Given the description of an element on the screen output the (x, y) to click on. 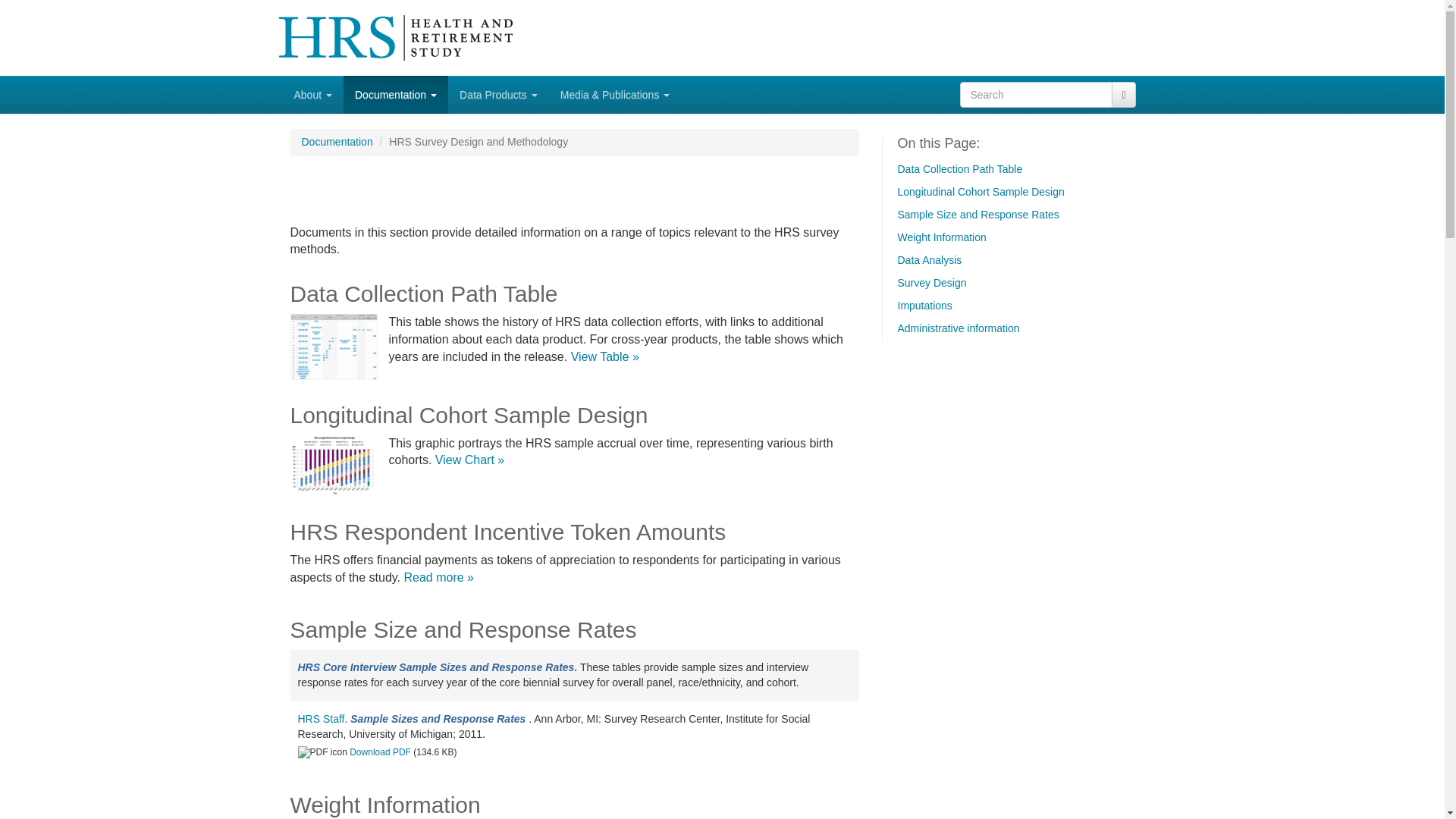
Documentation (395, 94)
About (312, 94)
Data Products (498, 94)
